Given the description of an element on the screen output the (x, y) to click on. 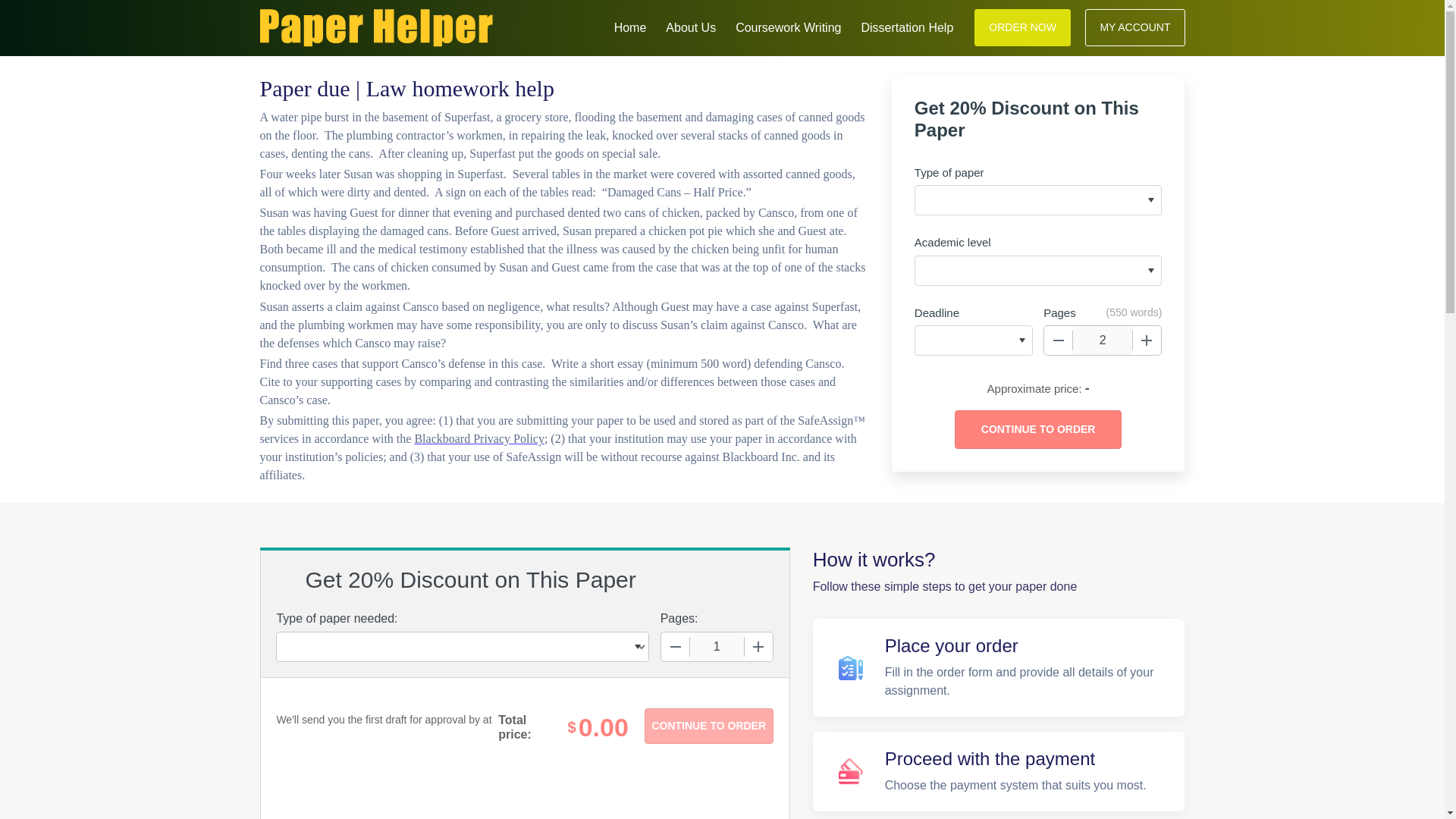
Dissertation Help (906, 25)
Continue to order (1038, 429)
Continue to order (1038, 429)
Home (630, 25)
Continue to order (709, 725)
Increase (758, 646)
About Us (690, 25)
1 (717, 646)
Decrease (1058, 339)
Home (630, 25)
Continue to order (709, 725)
Decrease (675, 646)
Coursework Writing (788, 25)
About Us (690, 25)
ORDER NOW (1022, 27)
